Given the description of an element on the screen output the (x, y) to click on. 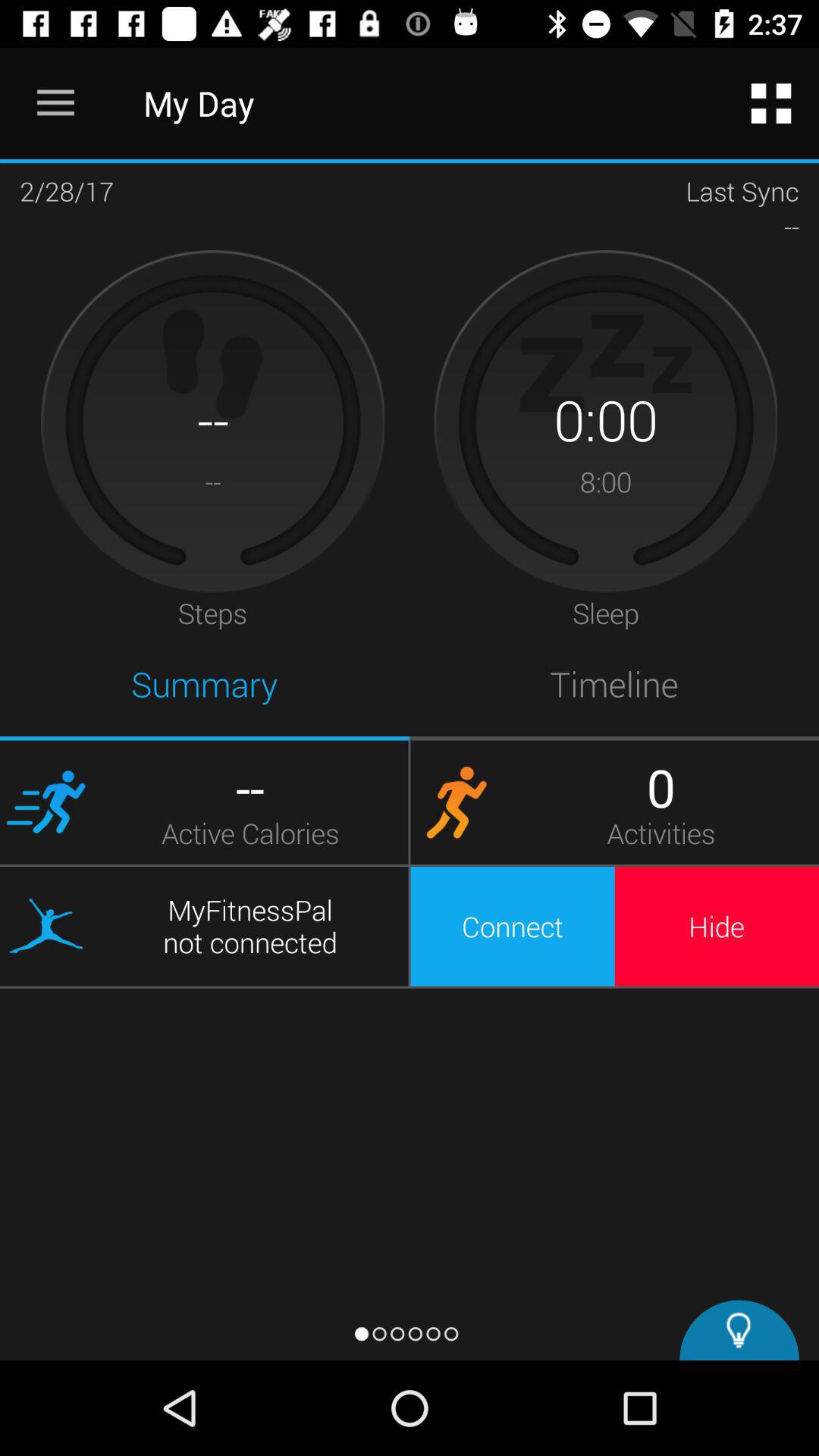
tap the icon to the left of the my day item (55, 103)
